Given the description of an element on the screen output the (x, y) to click on. 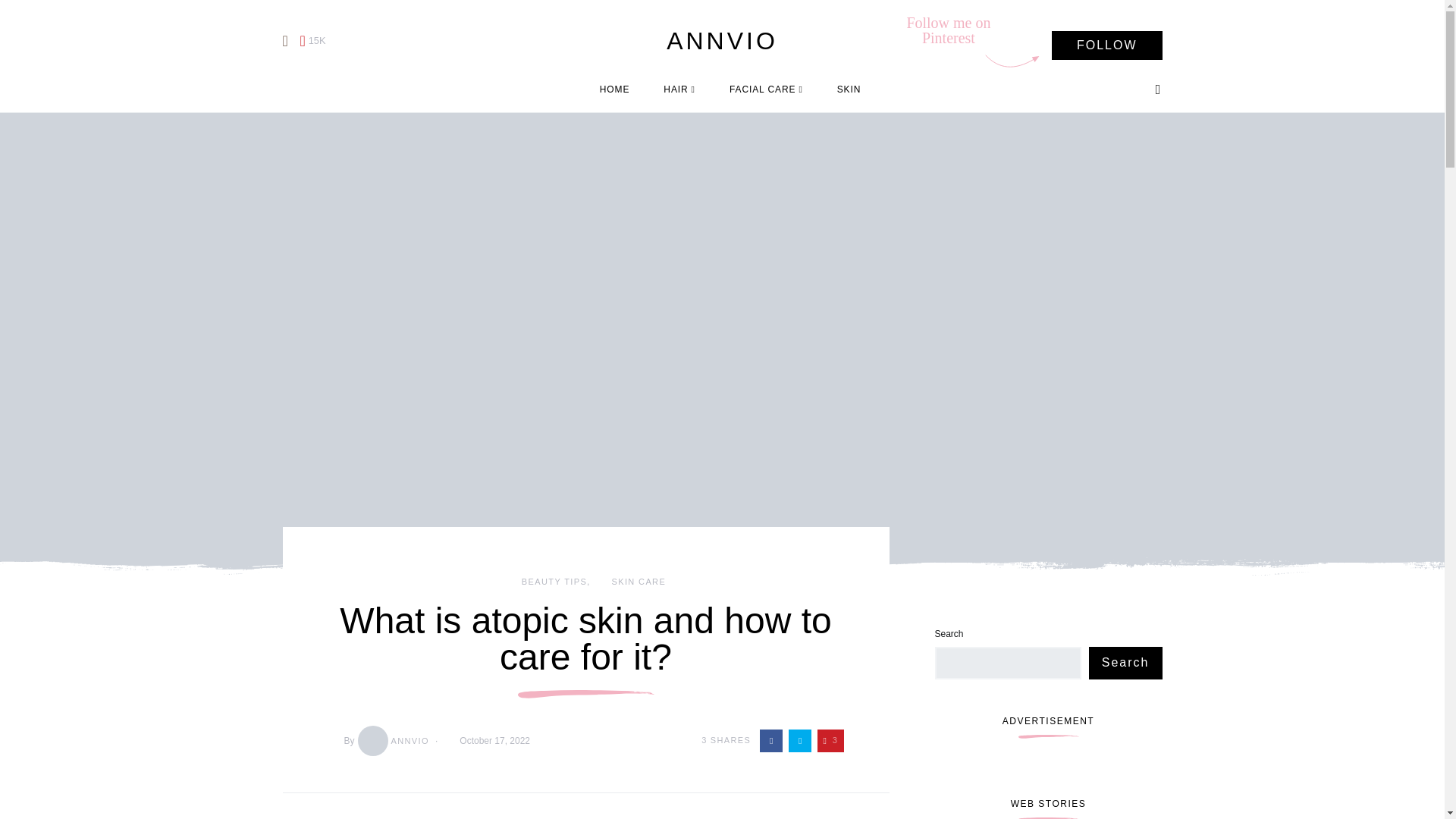
3 (829, 740)
FACIAL CARE (766, 89)
HAIR (678, 89)
ANNVIO (721, 40)
SKIN CARE (638, 580)
BEAUTY TIPS (553, 580)
FOLLOW (1106, 45)
15K (311, 40)
ANNVIO (392, 739)
View all posts by Annvio (392, 739)
